Given the description of an element on the screen output the (x, y) to click on. 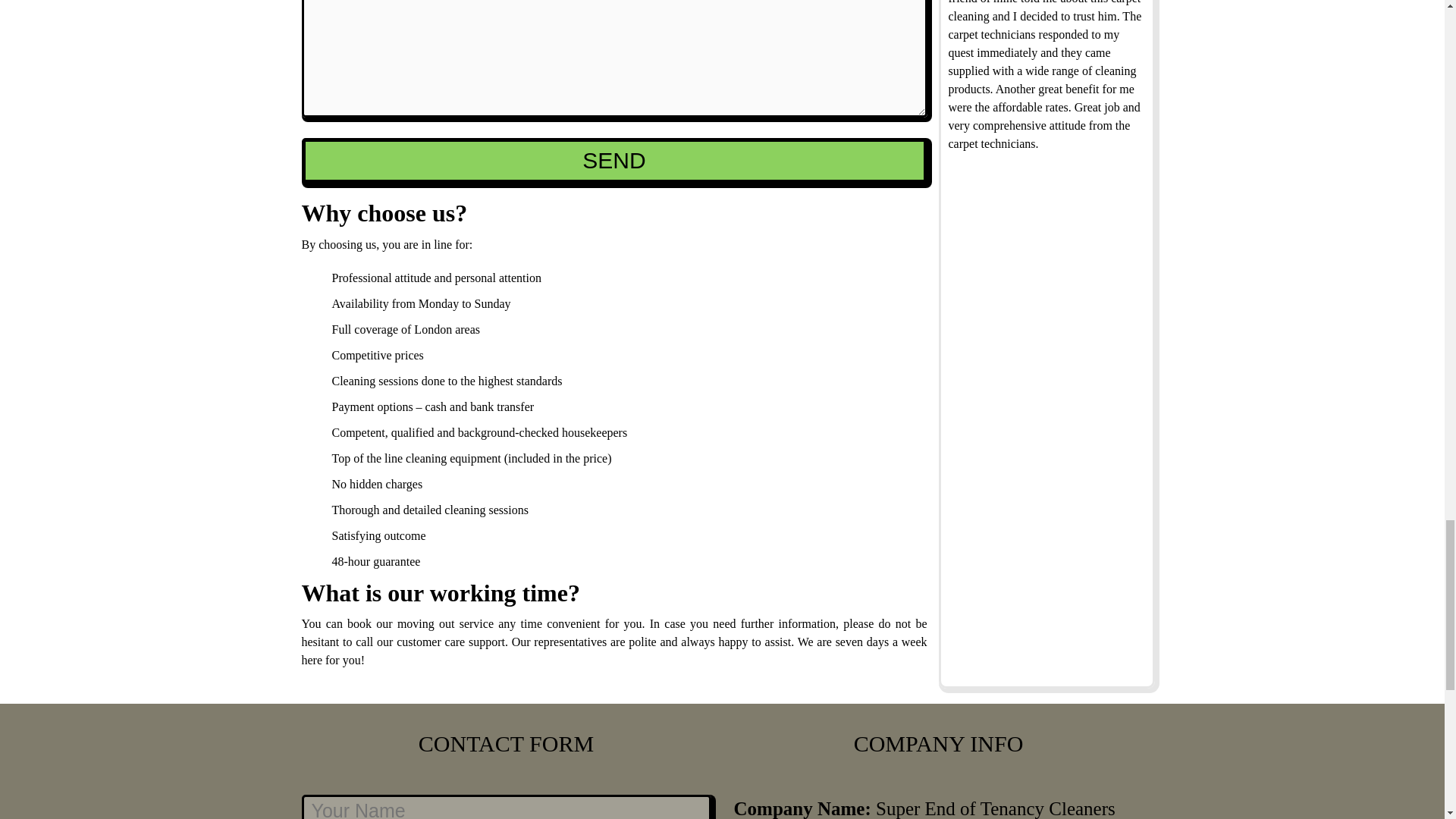
Send (614, 160)
Send (614, 160)
